Given the description of an element on the screen output the (x, y) to click on. 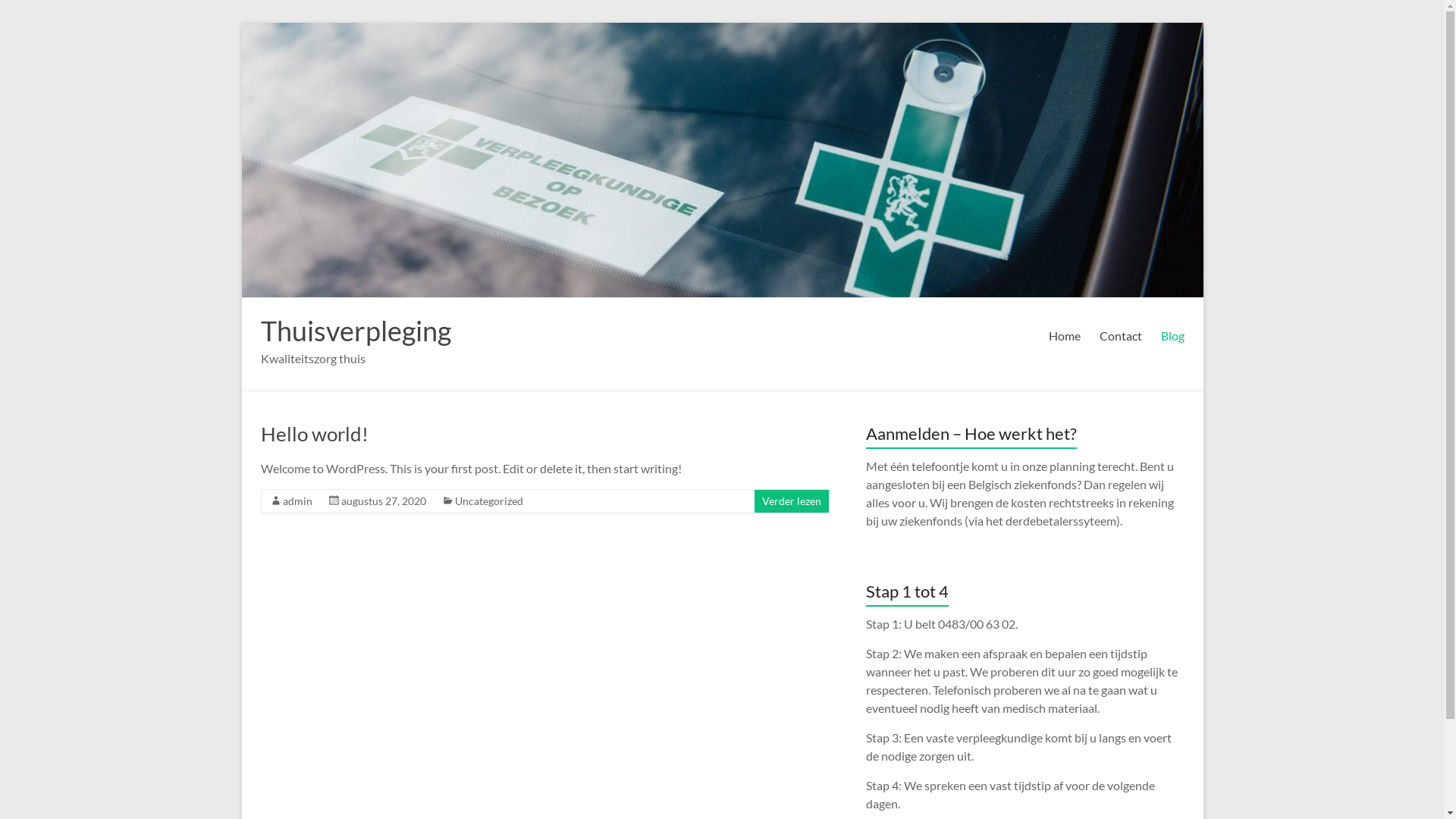
Blog Element type: text (1171, 335)
Ga naar inhoud Element type: text (241, 21)
Hello world! Element type: text (314, 433)
Verder lezen Element type: text (790, 500)
Uncategorized Element type: text (489, 500)
Thuisverpleging Element type: text (355, 330)
admin Element type: text (296, 500)
Home Element type: text (1063, 335)
Contact Element type: text (1120, 335)
augustus 27, 2020 Element type: text (383, 500)
